Given the description of an element on the screen output the (x, y) to click on. 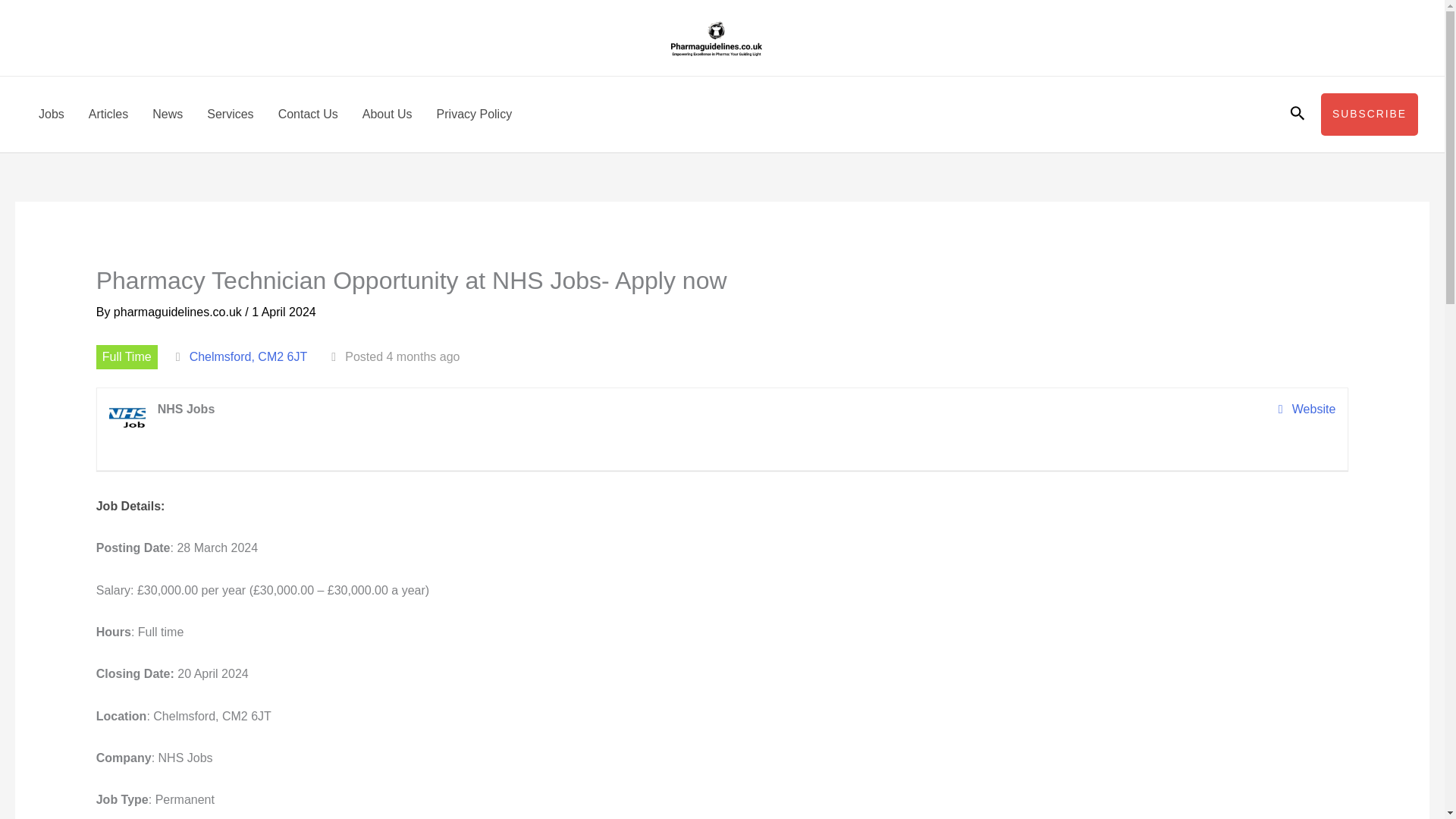
Contact Us (308, 114)
SUBSCRIBE (1369, 114)
Website (1307, 409)
Chelmsford, CM2 6JT (248, 356)
View all posts by pharmaguidelines.co.uk (178, 311)
About Us (387, 114)
Services (229, 114)
Privacy Policy (474, 114)
pharmaguidelines.co.uk (178, 311)
